Given the description of an element on the screen output the (x, y) to click on. 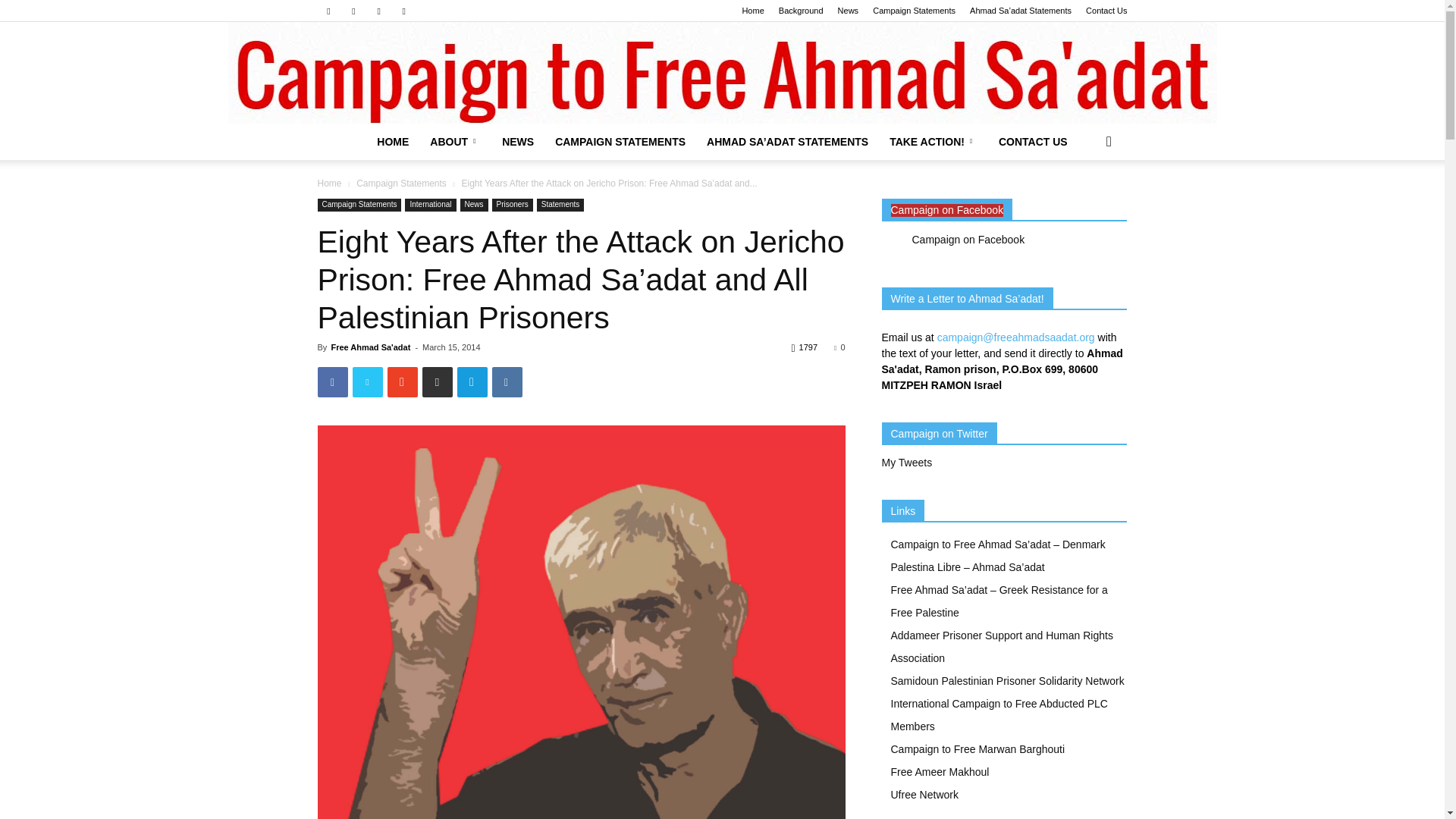
HOME (392, 141)
Campaign Statements (913, 10)
ABOUT (455, 141)
Mail (353, 10)
Facebook (328, 10)
Contact Us (1106, 10)
CAMPAIGN STATEMENTS (619, 141)
TAKE ACTION! (933, 141)
Home (751, 10)
Background (801, 10)
News (848, 10)
View all posts in Campaign Statements (401, 183)
RSS (379, 10)
